Given the description of an element on the screen output the (x, y) to click on. 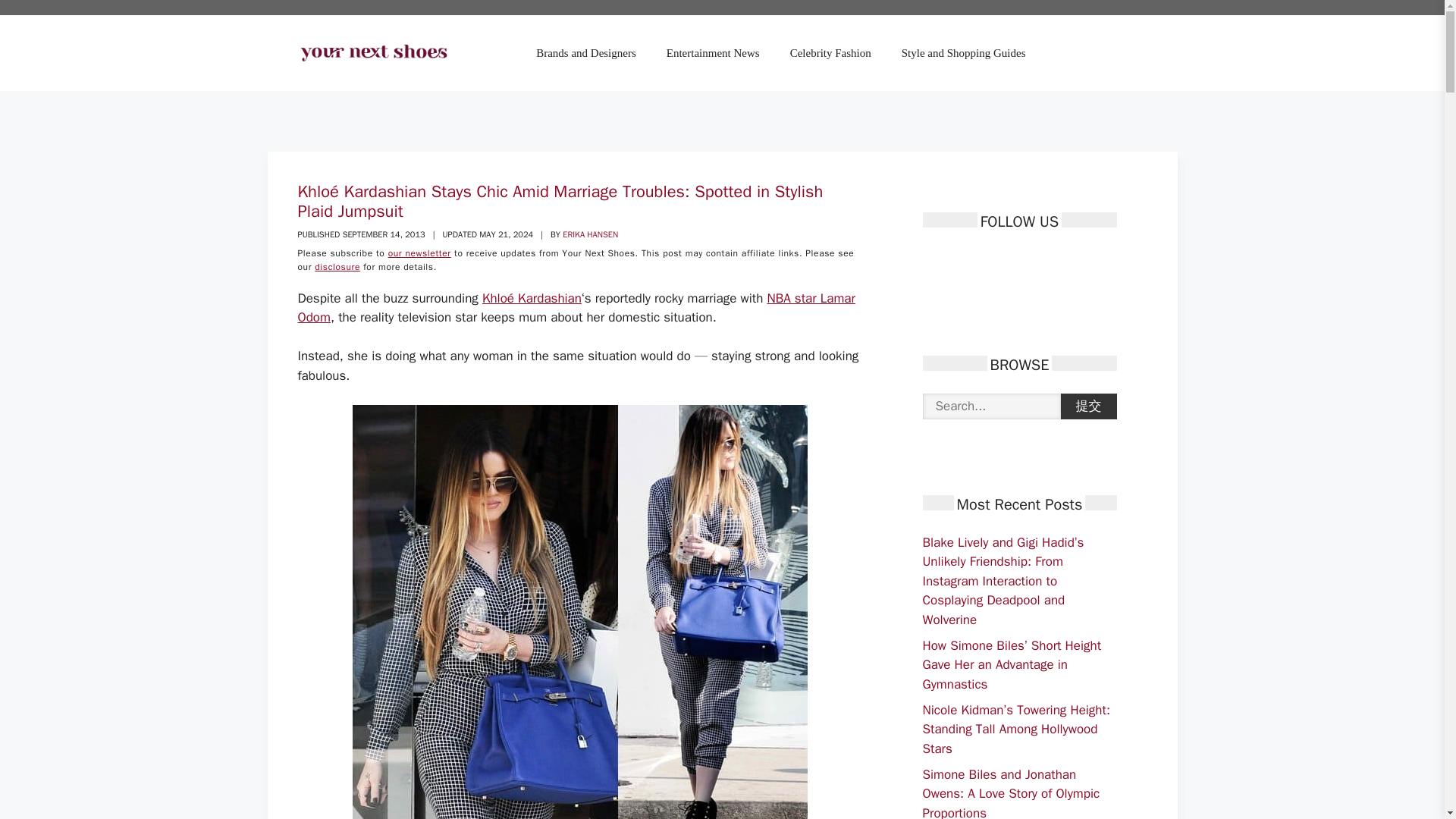
Pinterest (986, 261)
ERIKA HANSEN (589, 234)
Brands and Designers (585, 53)
Celebrity Fashion (830, 53)
Instagram (1014, 261)
Twitter (960, 261)
Facebook (932, 261)
disclosure (336, 266)
our newsletter (419, 253)
Style and Shopping Guides (963, 53)
NBA star Lamar Odom (575, 307)
Entertainment News (712, 53)
